Given the description of an element on the screen output the (x, y) to click on. 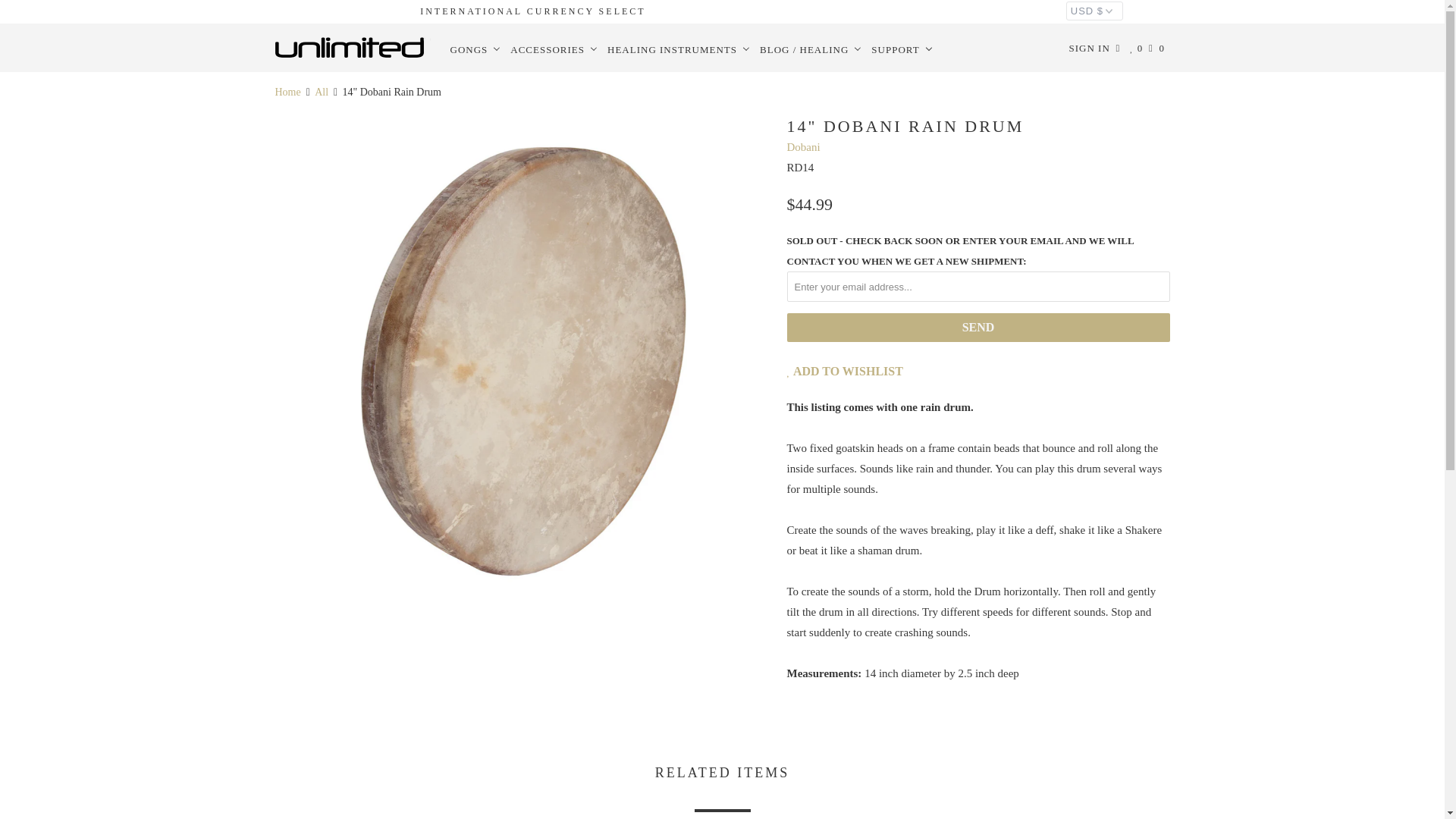
Send (978, 327)
